Given the description of an element on the screen output the (x, y) to click on. 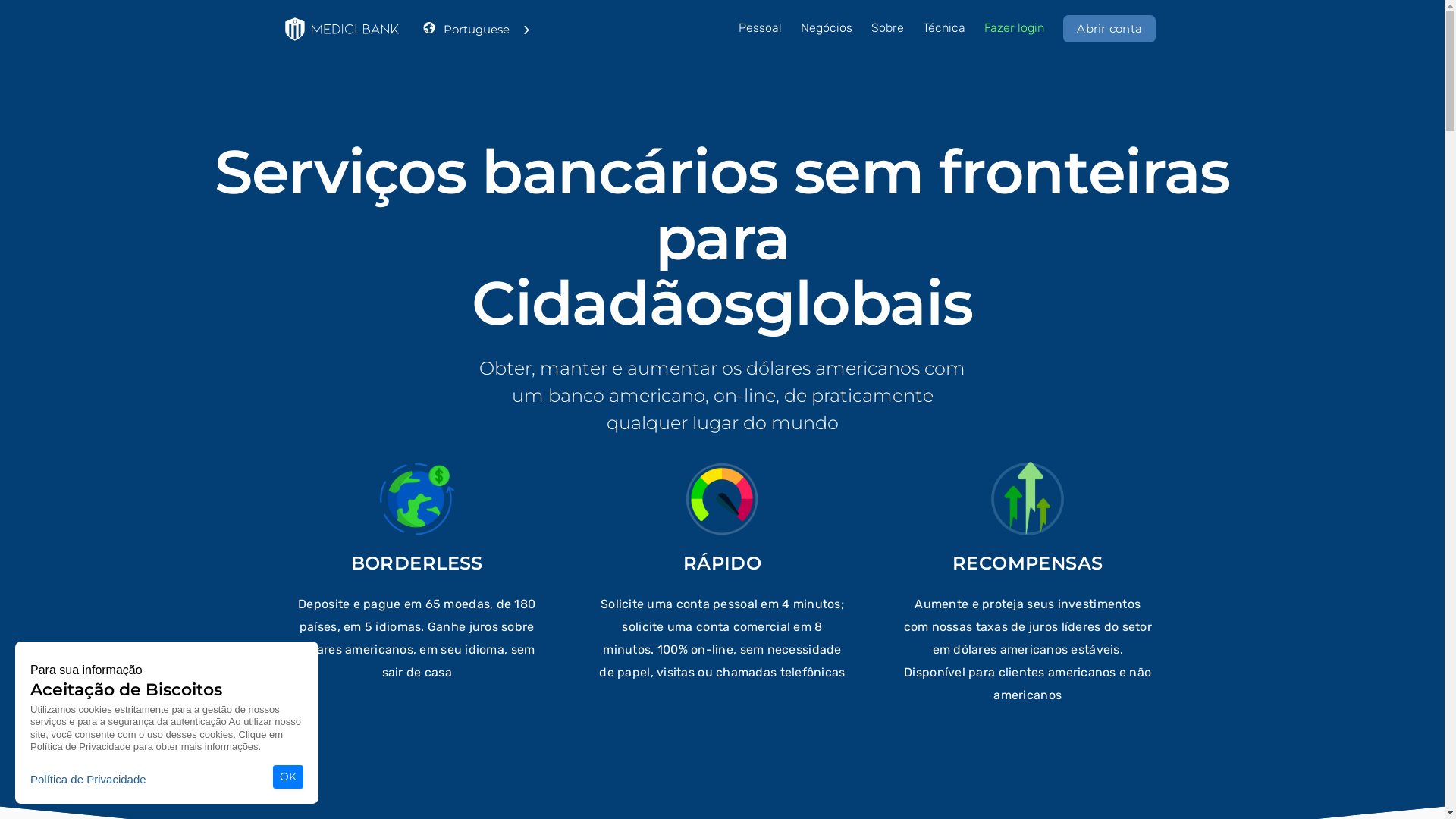
OK Element type: text (288, 776)
Pessoal Element type: text (759, 27)
Portuguese Element type: text (487, 29)
Abrir conta Element type: text (1109, 28)
Fazer login Element type: text (1014, 27)
Sobre Element type: text (887, 27)
